Given the description of an element on the screen output the (x, y) to click on. 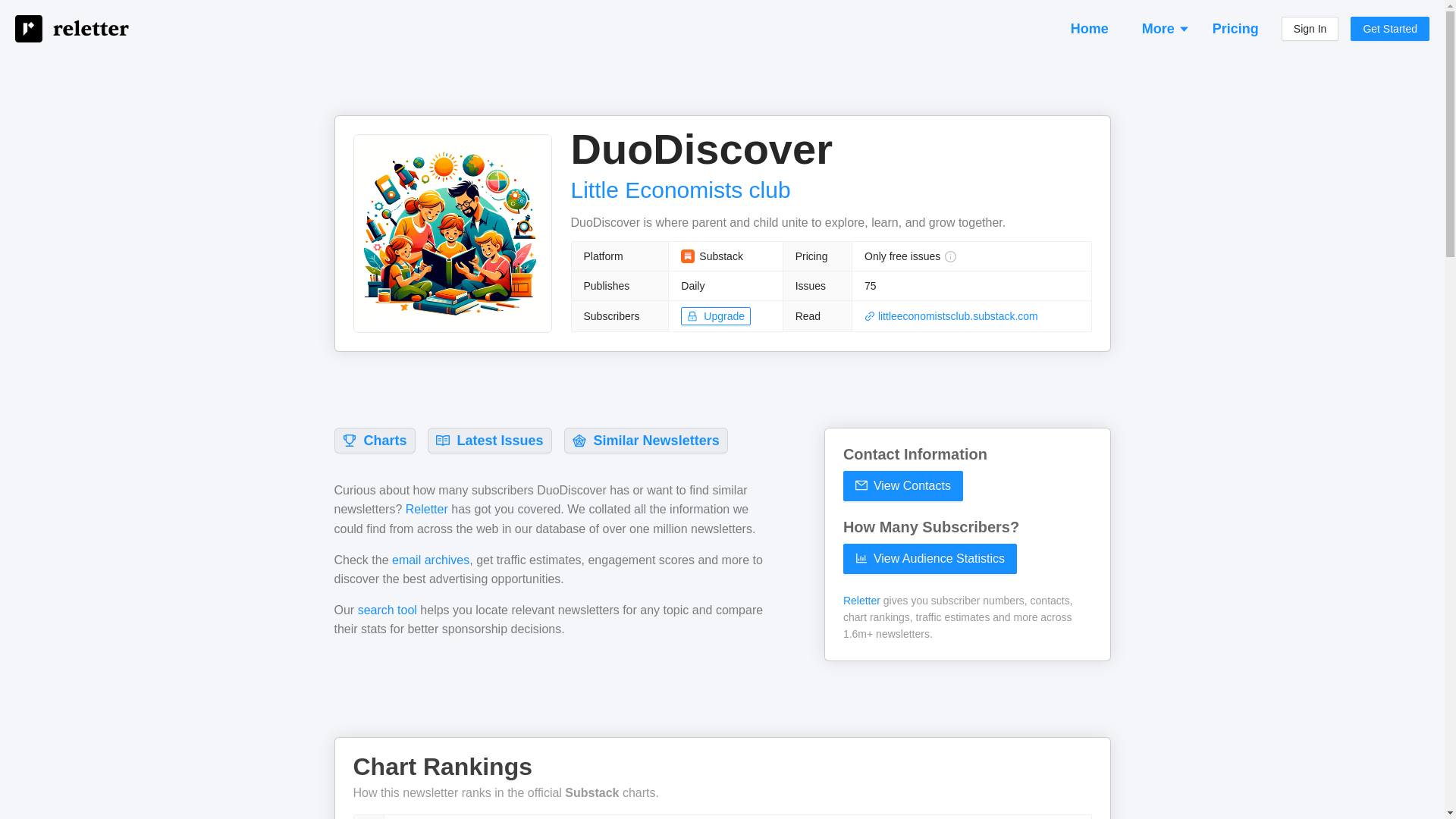
Upgrade (716, 316)
littleeconomistsclub.substack.com (951, 316)
Pricing (1235, 28)
Get Started (1390, 28)
Reletter (861, 600)
Reletter (427, 508)
Little Economists club (680, 189)
email archives (429, 559)
search tool (387, 609)
 Charts (373, 440)
View Audience Statistics (929, 558)
Sign In (1310, 28)
 Latest Issues (489, 440)
 Similar Newsletters (645, 440)
Home (1089, 28)
